Given the description of an element on the screen output the (x, y) to click on. 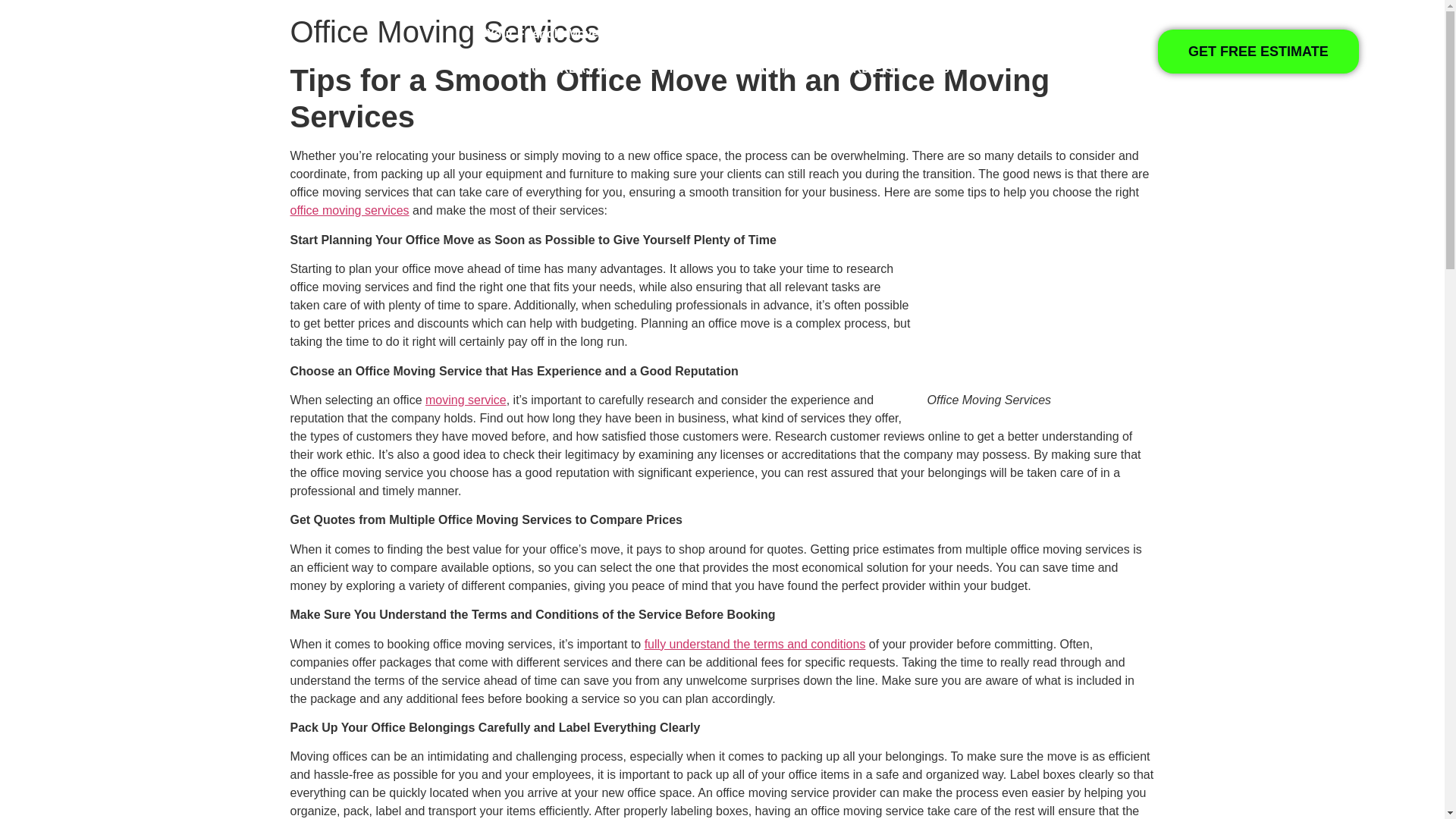
GET FREE ESTIMATE (1257, 51)
moving service (465, 399)
fully understand the terms and conditions (755, 644)
office moving services (349, 210)
